Given the description of an element on the screen output the (x, y) to click on. 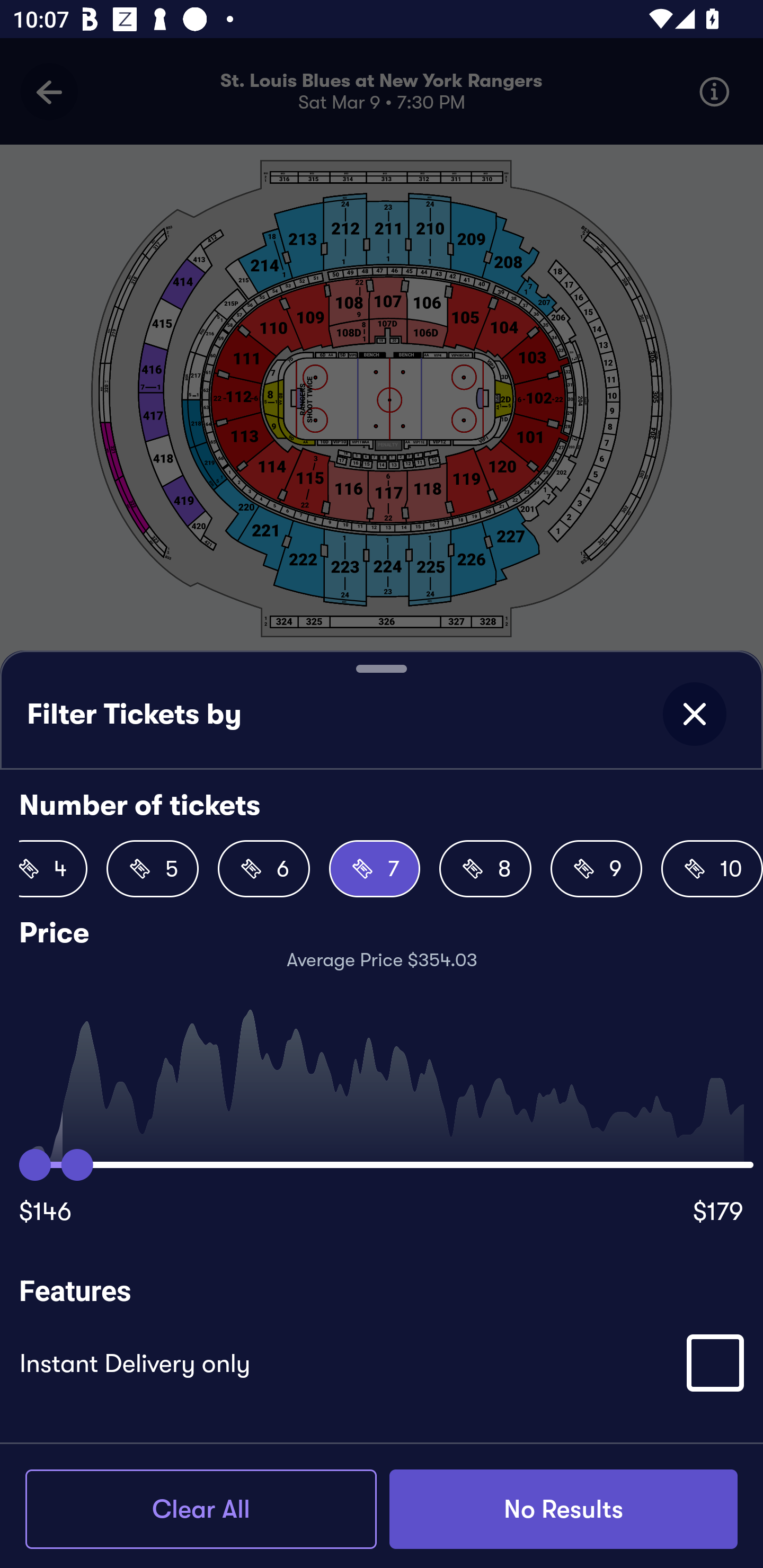
close (694, 714)
4 (53, 868)
5 (152, 868)
6 (263, 868)
7 (374, 868)
8 (485, 868)
9 (596, 868)
10 (712, 868)
Clear All (200, 1509)
No Results (563, 1509)
